Given the description of an element on the screen output the (x, y) to click on. 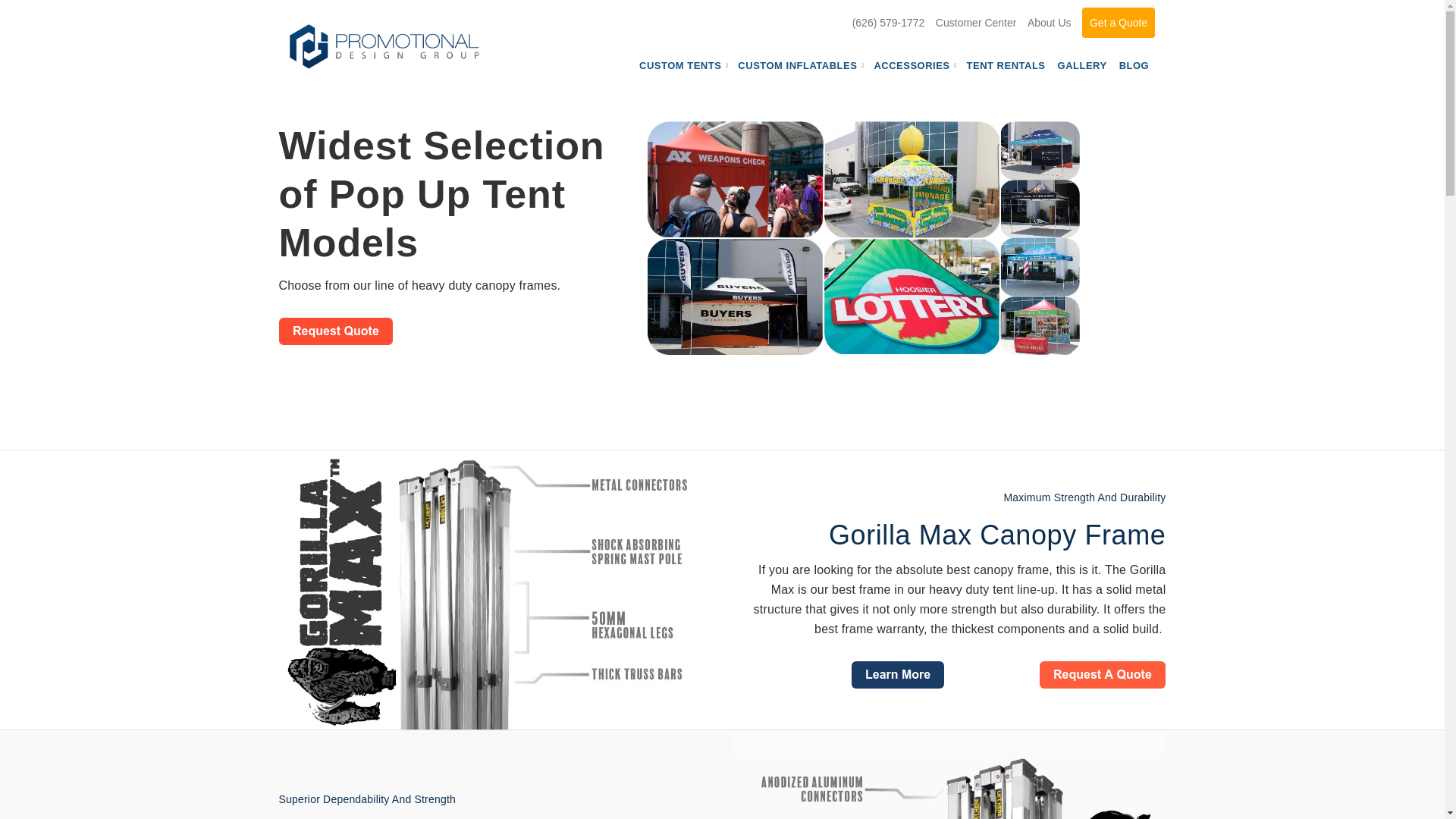
Rhino Max frame image with specifications and features (949, 774)
Promotional Design Groups blue Logo (384, 45)
Heavy Duty Pop Up Canopies (863, 237)
CUSTOM INFLATABLES (799, 65)
About Us (1049, 22)
CUSTOM TENTS (682, 65)
Gorilla Max frame image with specifications and features (495, 589)
Get a Quote (1117, 22)
Customer Center (976, 22)
